Given the description of an element on the screen output the (x, y) to click on. 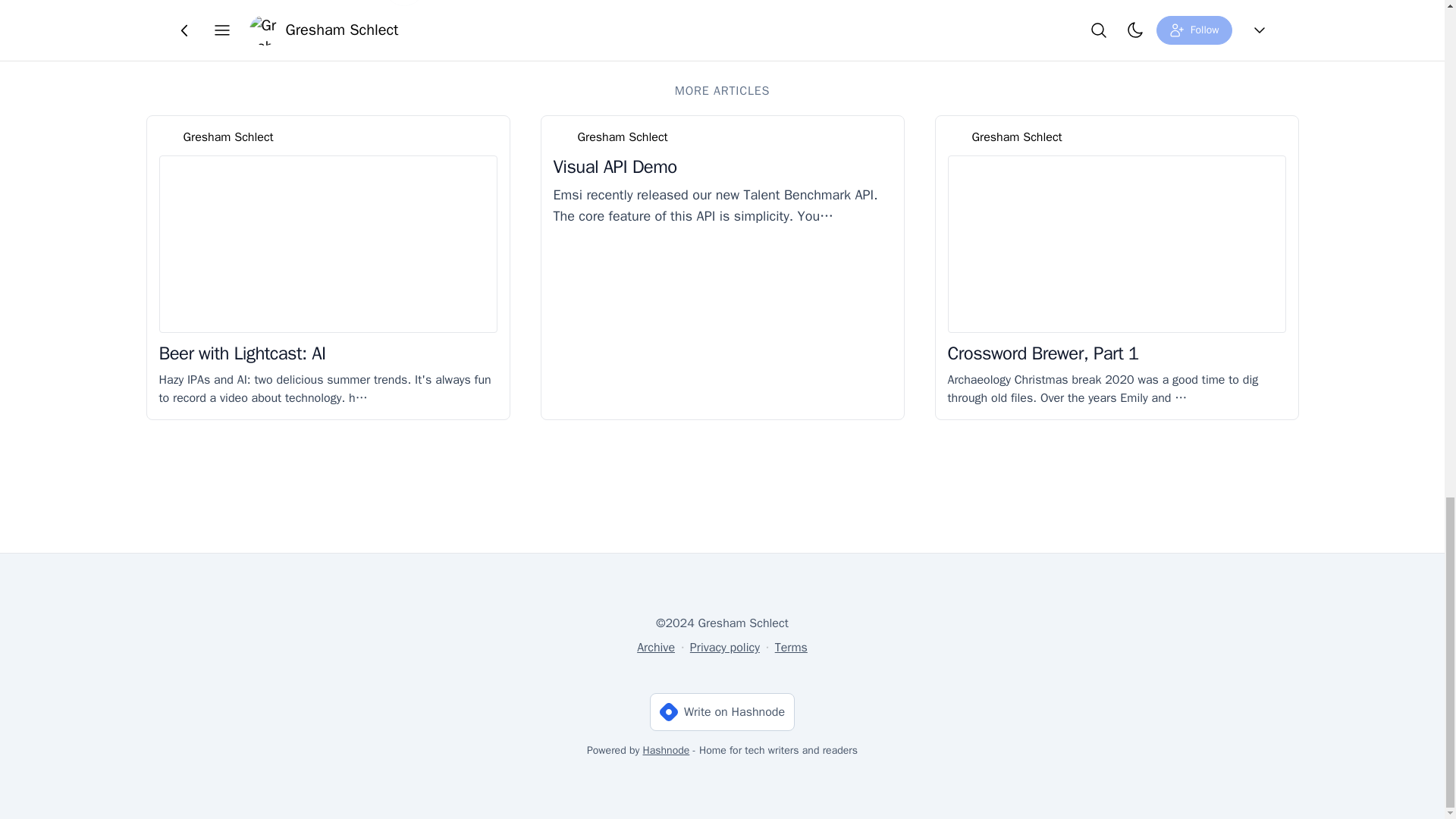
Visual API Demo (615, 166)
Gresham Schlect (1017, 136)
Gresham Schlect (623, 136)
Beer with Lightcast: AI (242, 353)
Gresham Schlect (228, 136)
